Given the description of an element on the screen output the (x, y) to click on. 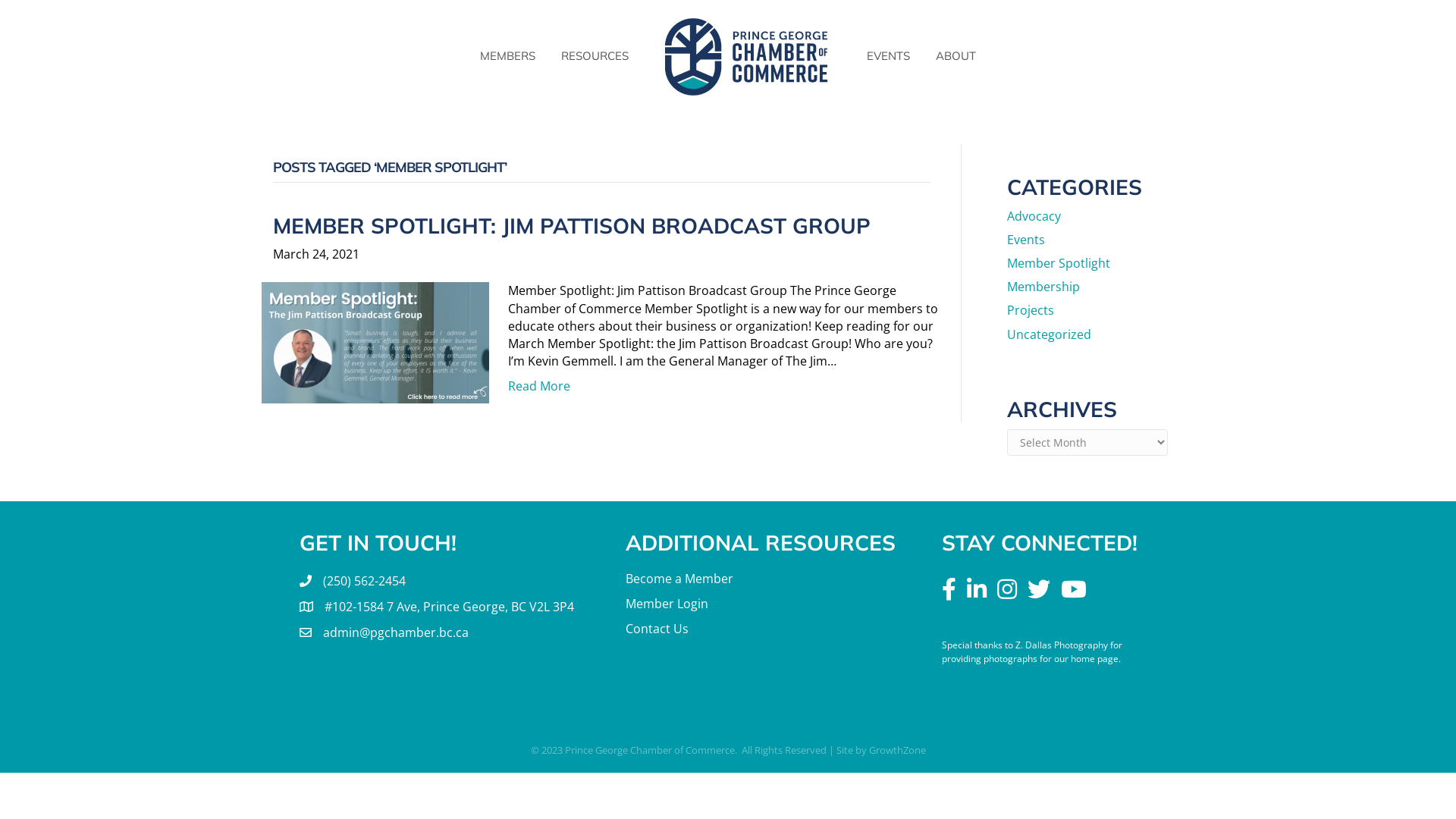
Become a Member Element type: text (679, 578)
GrowthZone Element type: text (897, 749)
Membership Element type: text (1043, 286)
MEMBER SPOTLIGHT: JIM PATTISON BROADCAST GROUP Element type: text (571, 225)
Uncategorized Element type: text (1049, 334)
Advocacy Element type: text (1033, 215)
ABOUT Element type: text (955, 55)
Events Element type: text (1025, 239)
admin@pgchamber.bc.ca Element type: text (395, 632)
Projects Element type: text (1030, 309)
EVENTS Element type: text (888, 55)
Contact Us Element type: text (656, 628)
Member Login Element type: text (666, 603)
RESOURCES Element type: text (594, 55)
(250) 562-2454 Element type: text (364, 580)
MEMBERS Element type: text (507, 55)
#102-1584 7 Ave, Prince George, BC V2L 3P4 Element type: text (449, 606)
Member Spotlight Element type: text (1058, 262)
Member Spotlight: Jim Pattison Broadcast Group Element type: hover (375, 341)
Read More Element type: text (539, 385)
